Given the description of an element on the screen output the (x, y) to click on. 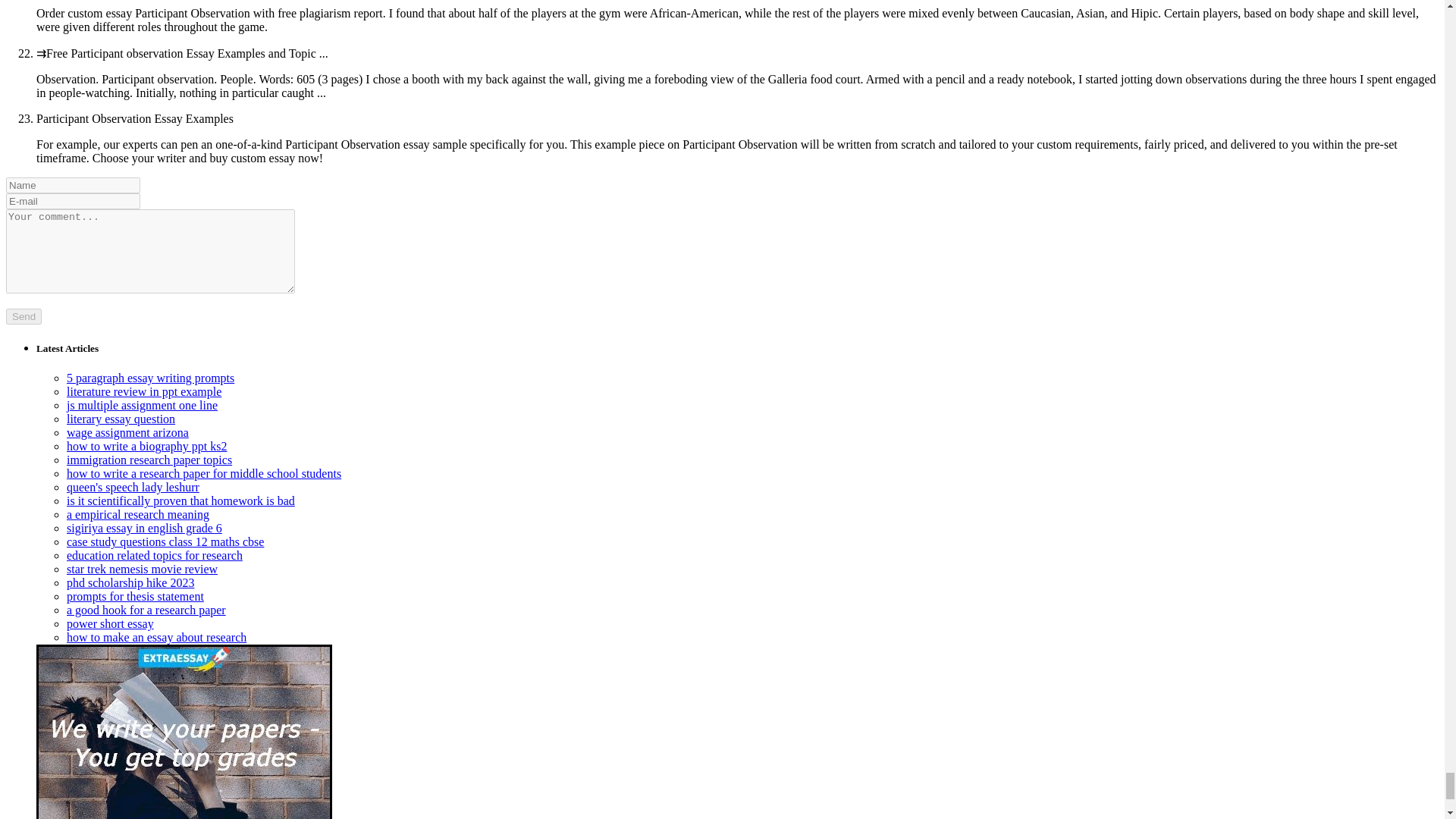
education related topics for research (154, 554)
immigration research paper topics (148, 459)
how to write a biography ppt ks2 (146, 445)
5 paragraph essay writing prompts (150, 377)
a empirical research meaning (137, 513)
is it scientifically proven that homework is bad (180, 500)
star trek nemesis movie review (141, 568)
phd scholarship hike 2023 (129, 582)
prompts for thesis statement (134, 595)
Send (23, 316)
how to write a research paper for middle school students (203, 472)
case study questions class 12 maths cbse (164, 541)
power short essay (110, 623)
literature review in ppt example (143, 391)
queen's speech lady leshurr (132, 486)
